Given the description of an element on the screen output the (x, y) to click on. 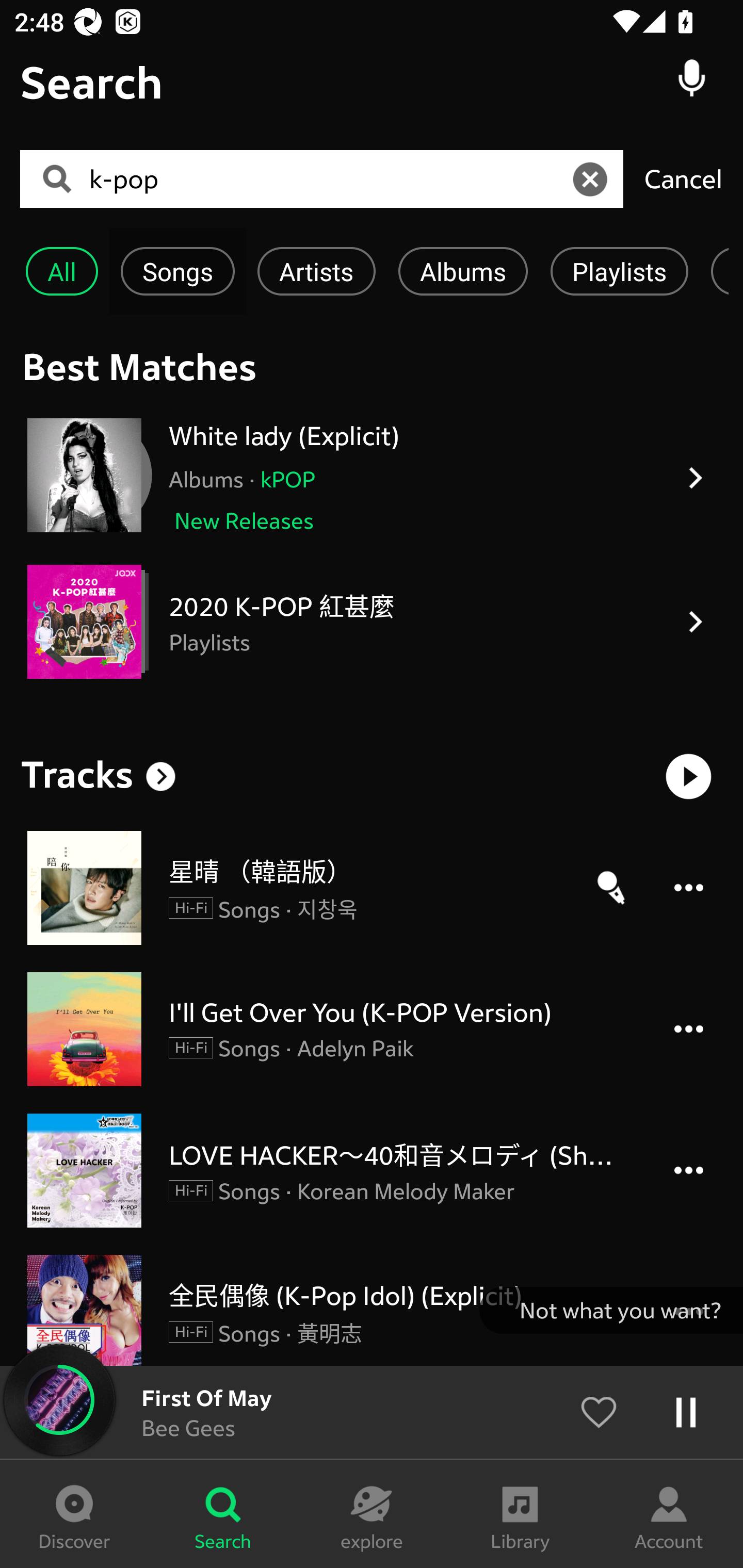
Cancel (683, 178)
k-pop (327, 179)
Songs (177, 271)
Artists (316, 271)
Albums (463, 271)
Playlists (619, 271)
Best Matches (371, 365)
White lady (Explicit) Albums · kPOP New Releases (371, 477)
2020 K-POP 紅甚麼 Playlists (371, 621)
Tracks (77, 773)
星晴 （韓語版） Hi-Fi Songs · 지창욱 (371, 888)
全民偶像 (K-Pop Idol) (Explicit) Hi-Fi Songs · 黃明志 (371, 1309)
First Of May Bee Gees (371, 1412)
Discover (74, 1513)
explore (371, 1513)
Library (519, 1513)
Account (668, 1513)
